Given the description of an element on the screen output the (x, y) to click on. 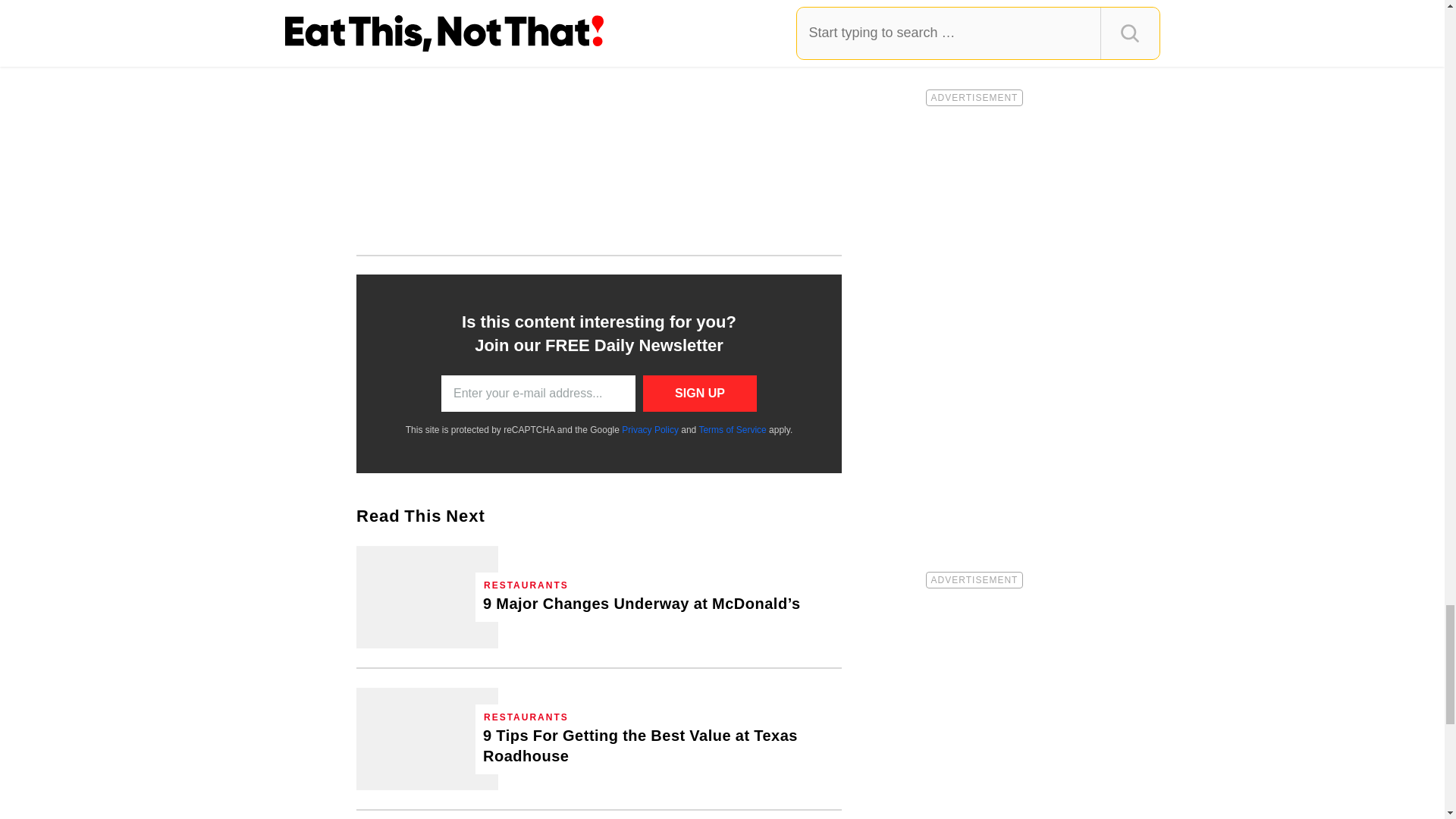
9 Major Changes Underway at McDonald's (641, 603)
9 Insider Tips For Getting the Best Value at Texas Roadhouse (426, 738)
9 Major Changes Underway at McDonald's (426, 597)
9 Insider Tips For Getting the Best Value at Texas Roadhouse (658, 745)
